Given the description of an element on the screen output the (x, y) to click on. 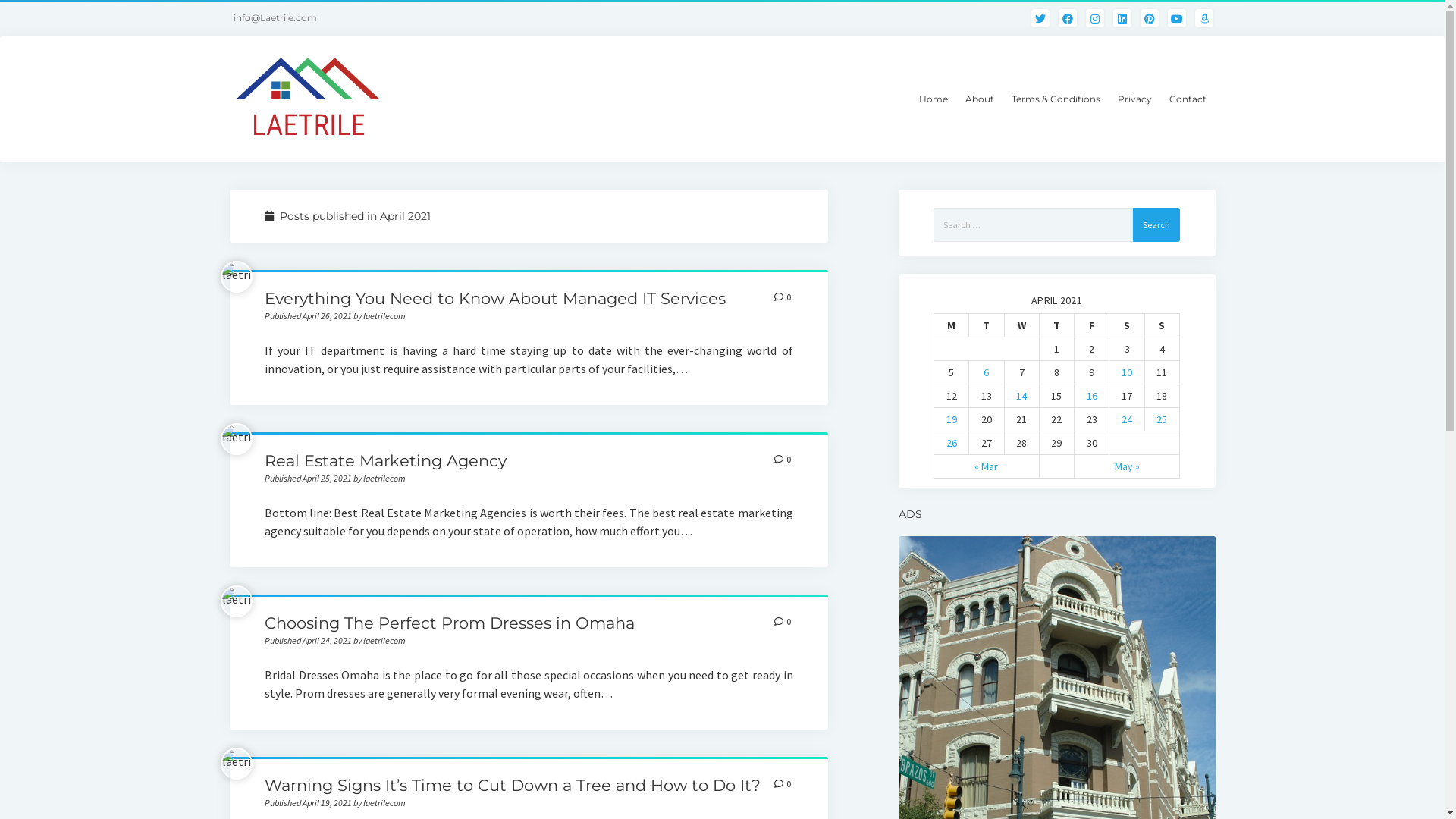
16 Element type: text (1091, 394)
amazon Element type: hover (1203, 18)
facebook Element type: hover (1067, 18)
19 Element type: text (951, 419)
info@Laetrile.com Element type: text (278, 18)
twitter Element type: hover (1040, 18)
10 Element type: text (1126, 372)
0 Element type: text (782, 296)
comment icon Element type: hover (778, 459)
0 Element type: text (782, 783)
6 Element type: text (985, 372)
25 Element type: text (1161, 419)
Terms & Conditions Element type: text (1055, 98)
14 Element type: text (1021, 394)
instagram Element type: hover (1094, 18)
Choosing The Perfect Prom Dresses in Omaha Element type: text (449, 622)
Search Element type: text (1155, 224)
linkedin Element type: hover (1121, 18)
Home Element type: text (933, 98)
24 Element type: text (1126, 419)
youtube Element type: hover (1176, 18)
Contact Element type: text (1187, 98)
comment icon Element type: hover (778, 783)
0 Element type: text (782, 621)
26 Element type: text (951, 441)
pinterest Element type: hover (1149, 18)
Everything You Need to Know About Managed IT Services Element type: text (494, 297)
comment icon Element type: hover (778, 621)
Real Estate Marketing Agency Element type: text (385, 460)
0 Element type: text (782, 458)
Privacy Element type: text (1134, 98)
comment icon Element type: hover (778, 296)
About Element type: text (978, 98)
